Given the description of an element on the screen output the (x, y) to click on. 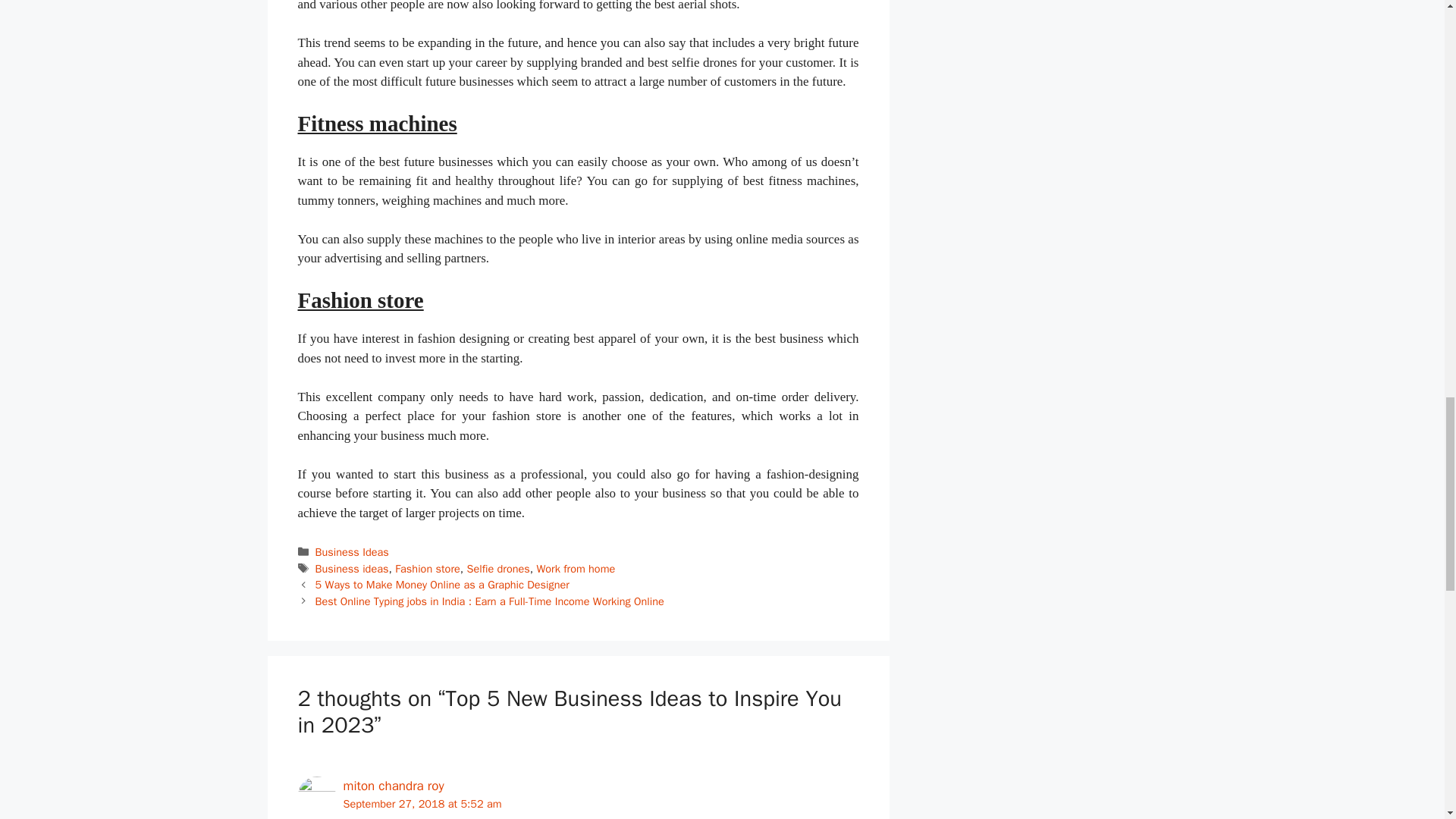
Business ideas (351, 568)
miton chandra roy (393, 785)
Next (489, 601)
Business Ideas (351, 551)
September 27, 2018 at 5:52 am (421, 803)
Selfie drones (497, 568)
Work from home (574, 568)
5 Ways to Make Money Online as a Graphic Designer (442, 584)
Fashion store (427, 568)
Previous (442, 584)
